Given the description of an element on the screen output the (x, y) to click on. 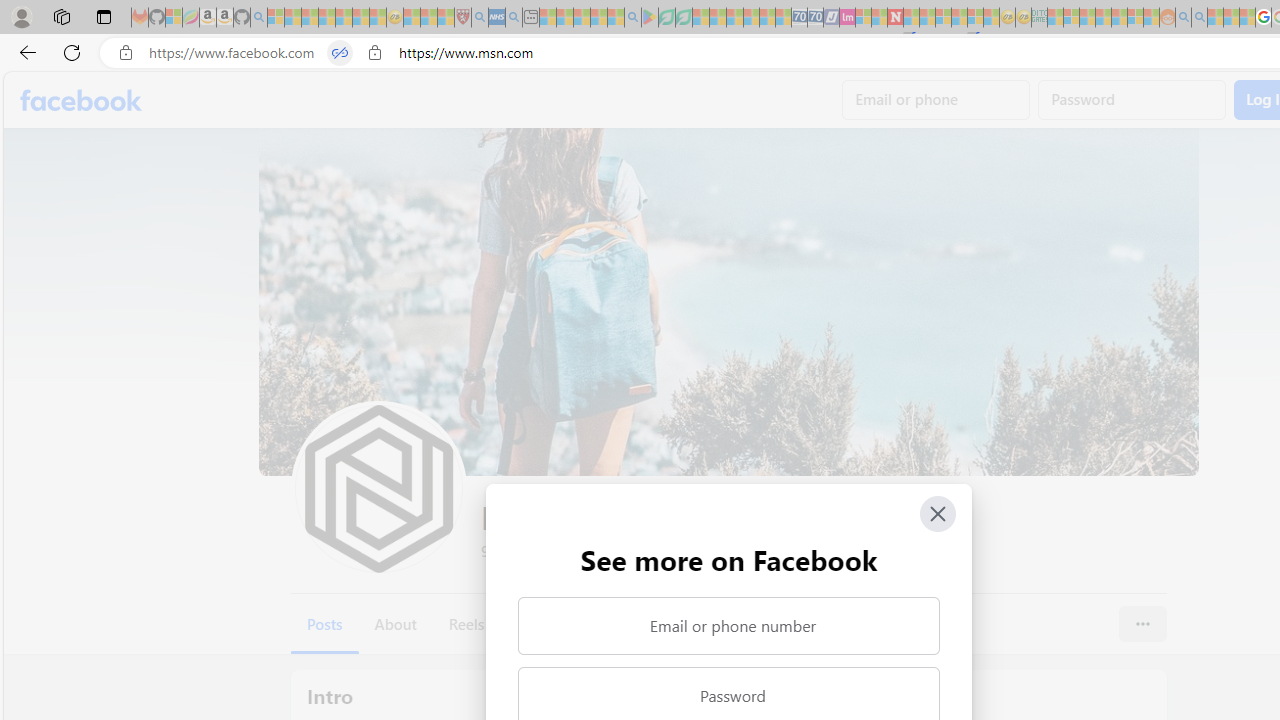
View site information (374, 53)
Back (24, 52)
Workspaces (61, 16)
MSNBC - MSN - Sleeping (1055, 17)
